Given the description of an element on the screen output the (x, y) to click on. 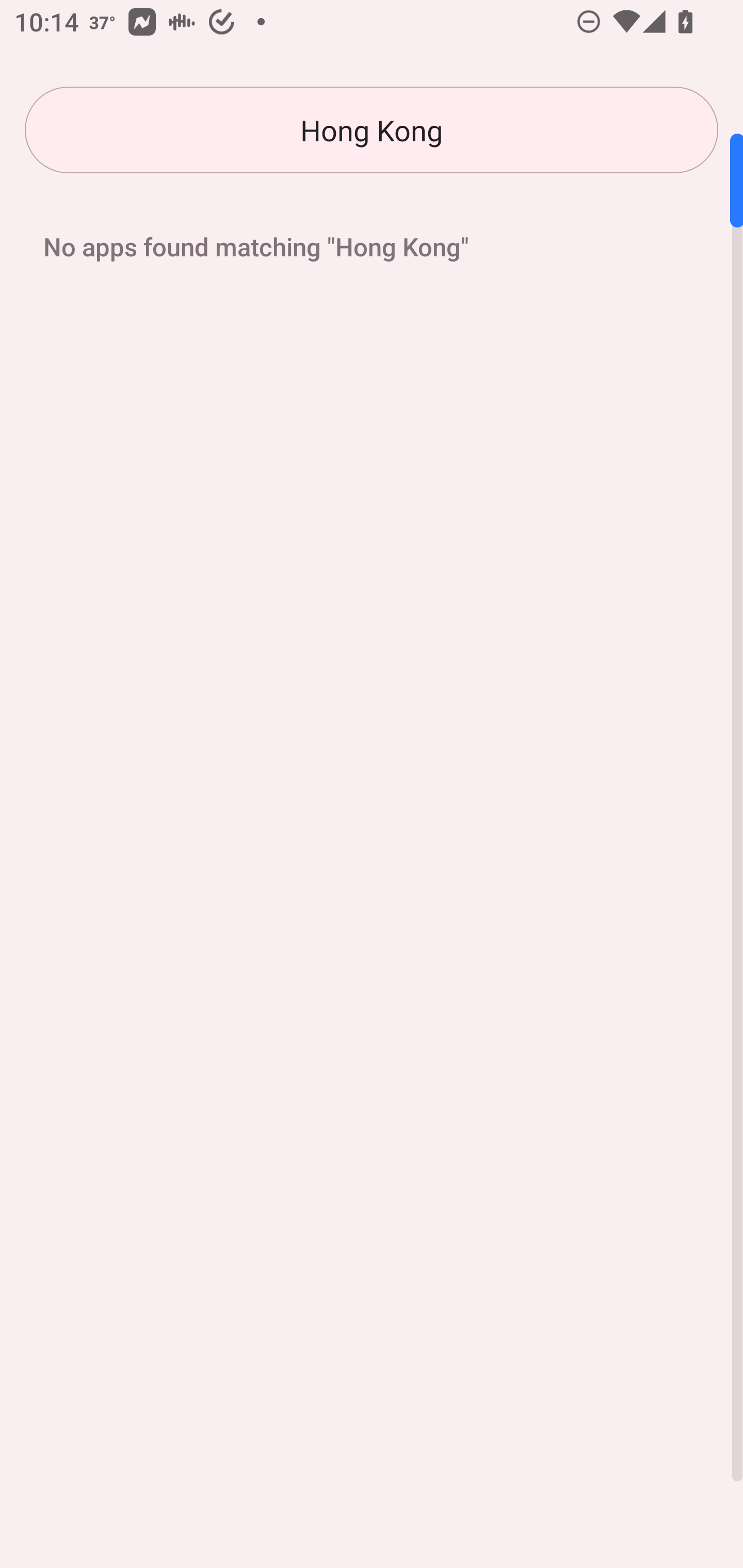
Hong Kong (371, 130)
